Given the description of an element on the screen output the (x, y) to click on. 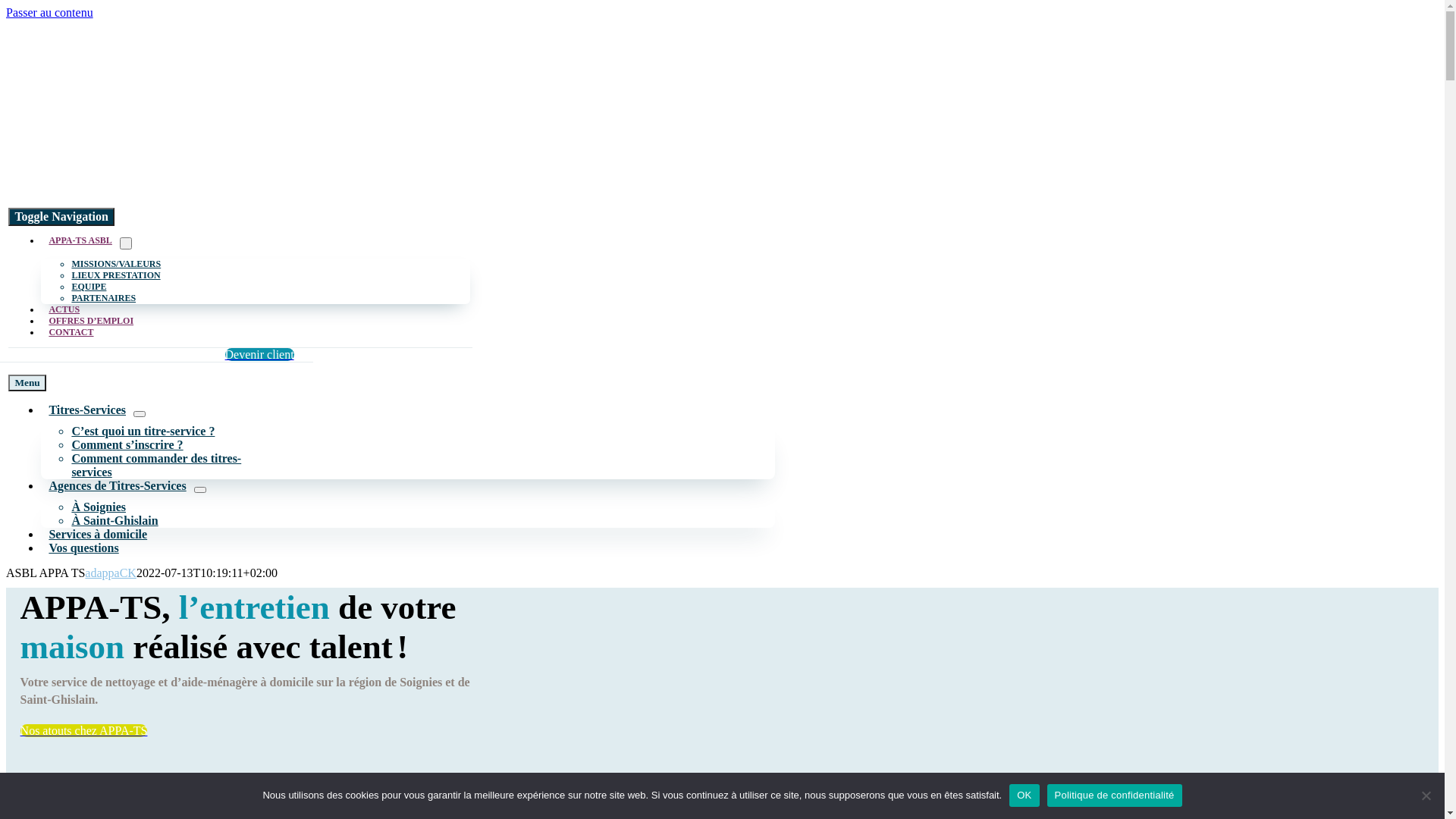
EQUIPE Element type: text (88, 286)
Passer au contenu Element type: text (49, 12)
Nos atouts chez APPA-TS Element type: text (83, 730)
Menu Element type: text (26, 382)
PARTENAIRES Element type: text (103, 297)
Vos questions Element type: text (82, 548)
Agences de Titres-Services Element type: text (116, 486)
Comment commander des titres-services Element type: text (156, 467)
LIEUX PRESTATION Element type: text (115, 274)
ACTUS Element type: text (63, 309)
Non Element type: hover (1425, 795)
Titres-Services Element type: text (86, 410)
adappaCK Element type: text (110, 572)
MISSIONS/VALEURS Element type: text (115, 263)
CONTACT Element type: text (70, 332)
Toggle Navigation Element type: text (60, 216)
APPA-TS ASBL Element type: text (79, 240)
Devenir client Element type: text (259, 354)
OK Element type: text (1023, 795)
